Given the description of an element on the screen output the (x, y) to click on. 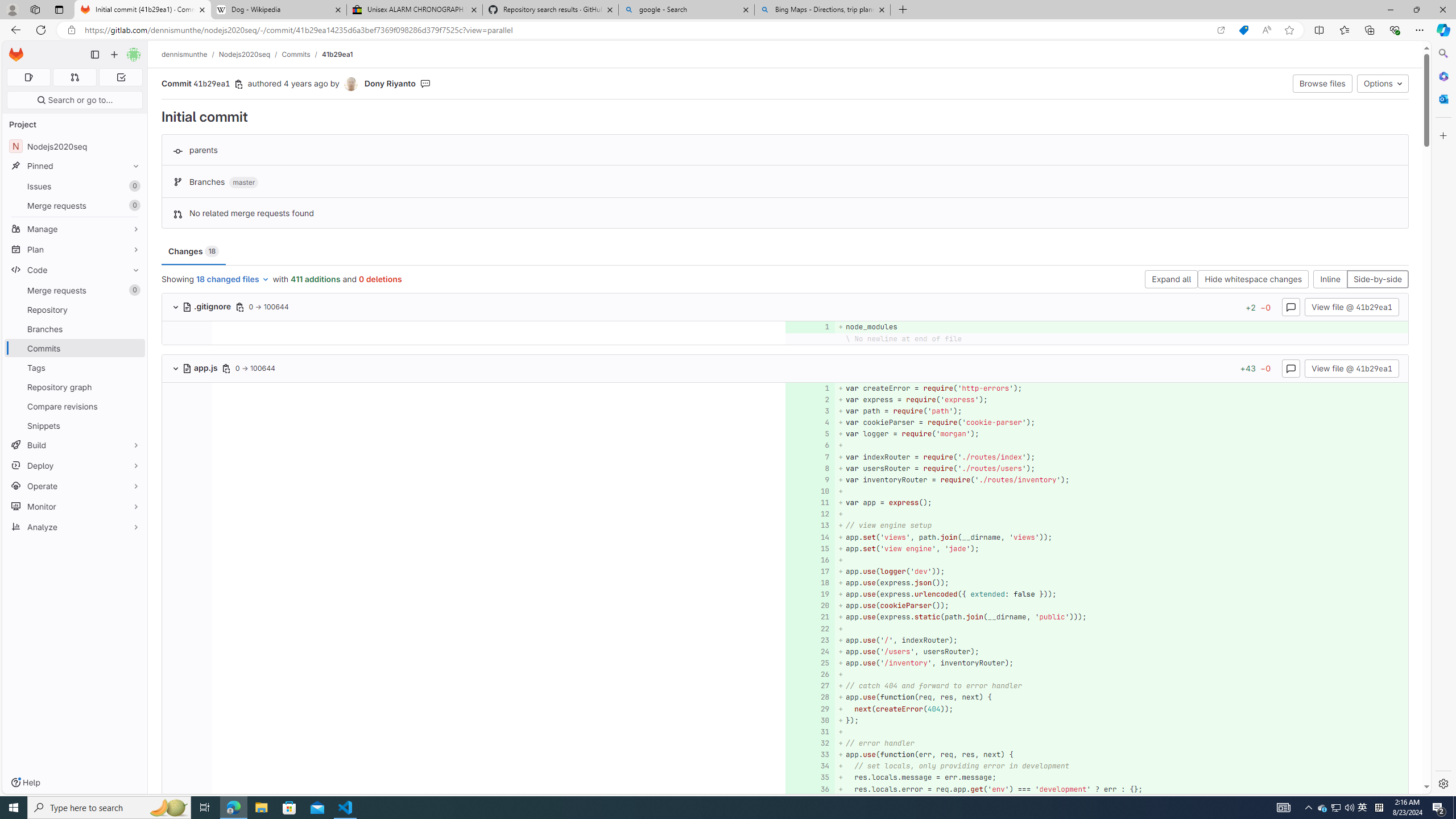
Monitor (74, 506)
21 (808, 617)
Commits (74, 348)
+ var inventoryRouter = require('./routes/inventory');  (1120, 479)
15 (808, 548)
+ // catch 404 and forward to error handler  (1120, 686)
Nodejs2020seq (244, 53)
31 (808, 731)
14 (808, 536)
32 (808, 743)
6 (808, 445)
29 (808, 708)
13 (808, 525)
20 (808, 605)
